Given the description of an element on the screen output the (x, y) to click on. 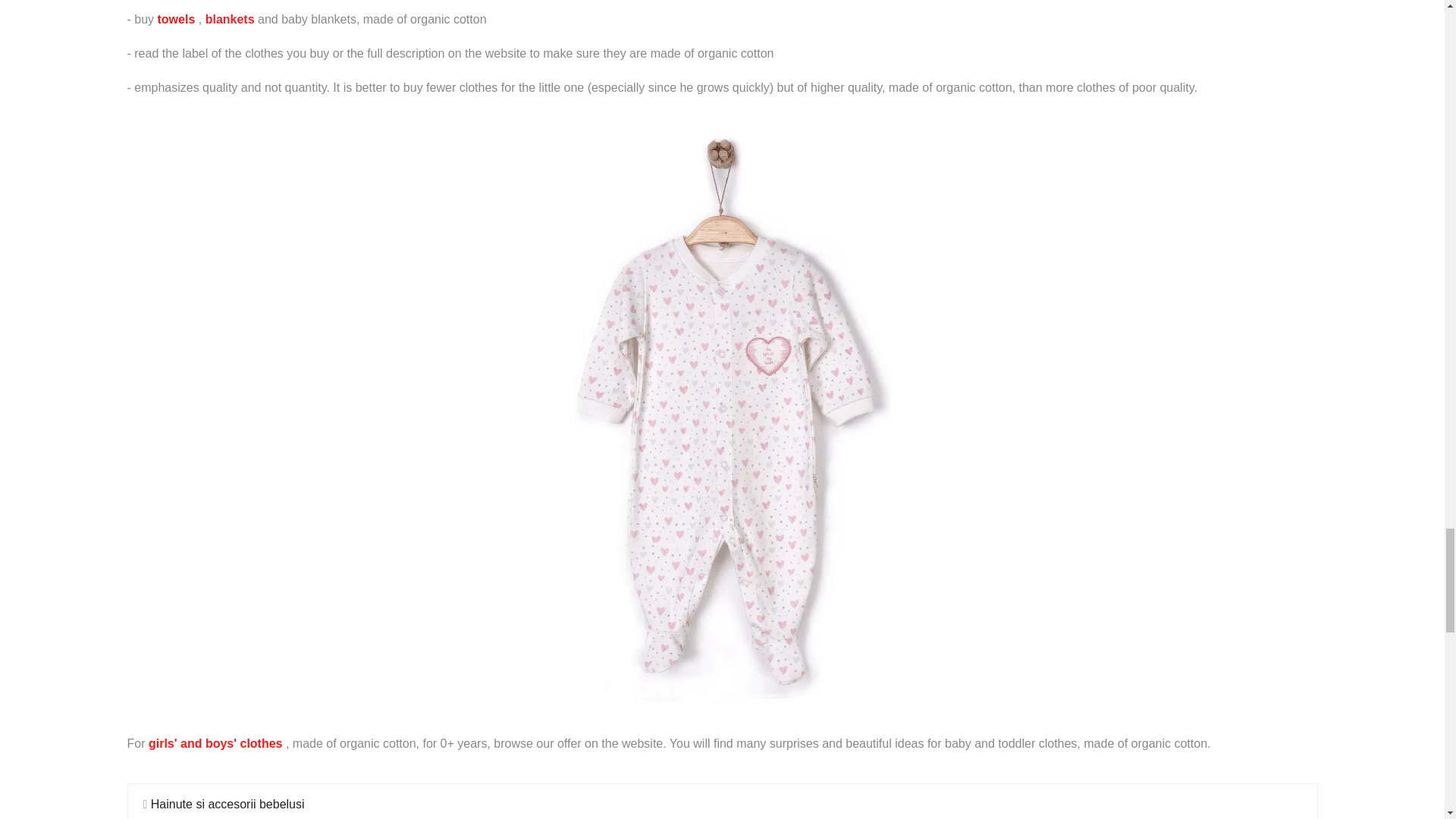
girls' and boys' clothes (215, 743)
towels (176, 19)
blankets (229, 19)
Hainute si accesorii bebelusi (227, 803)
